Given the description of an element on the screen output the (x, y) to click on. 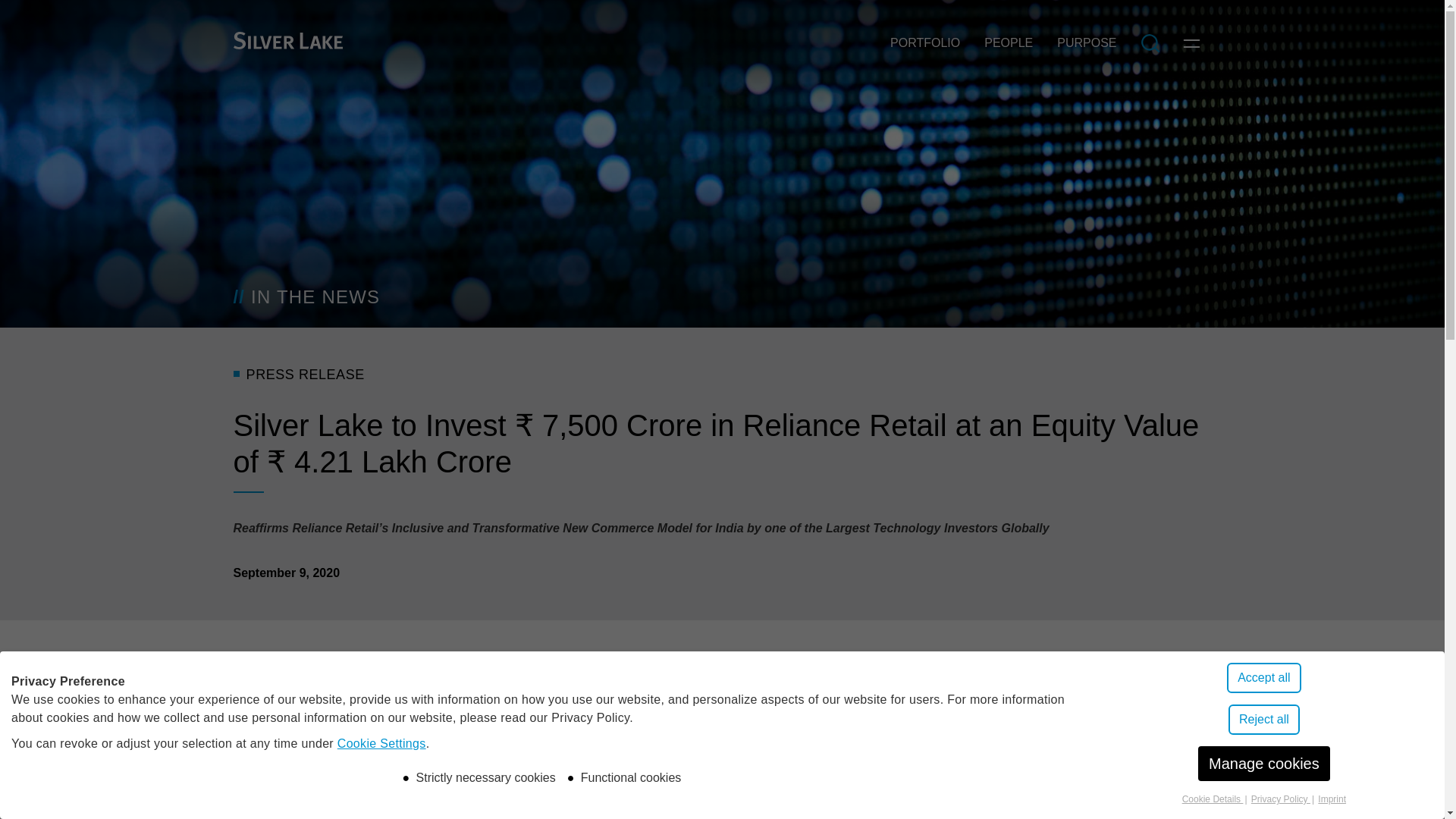
Cookie Details (1212, 798)
Imprint (1331, 798)
Privacy Policy (1280, 798)
PURPOSE (1086, 42)
Cookie Settings (381, 743)
Manage cookies (1264, 763)
PEOPLE (1008, 42)
Reject all (1264, 719)
PORTFOLIO (924, 42)
Accept all (1263, 677)
